Given the description of an element on the screen output the (x, y) to click on. 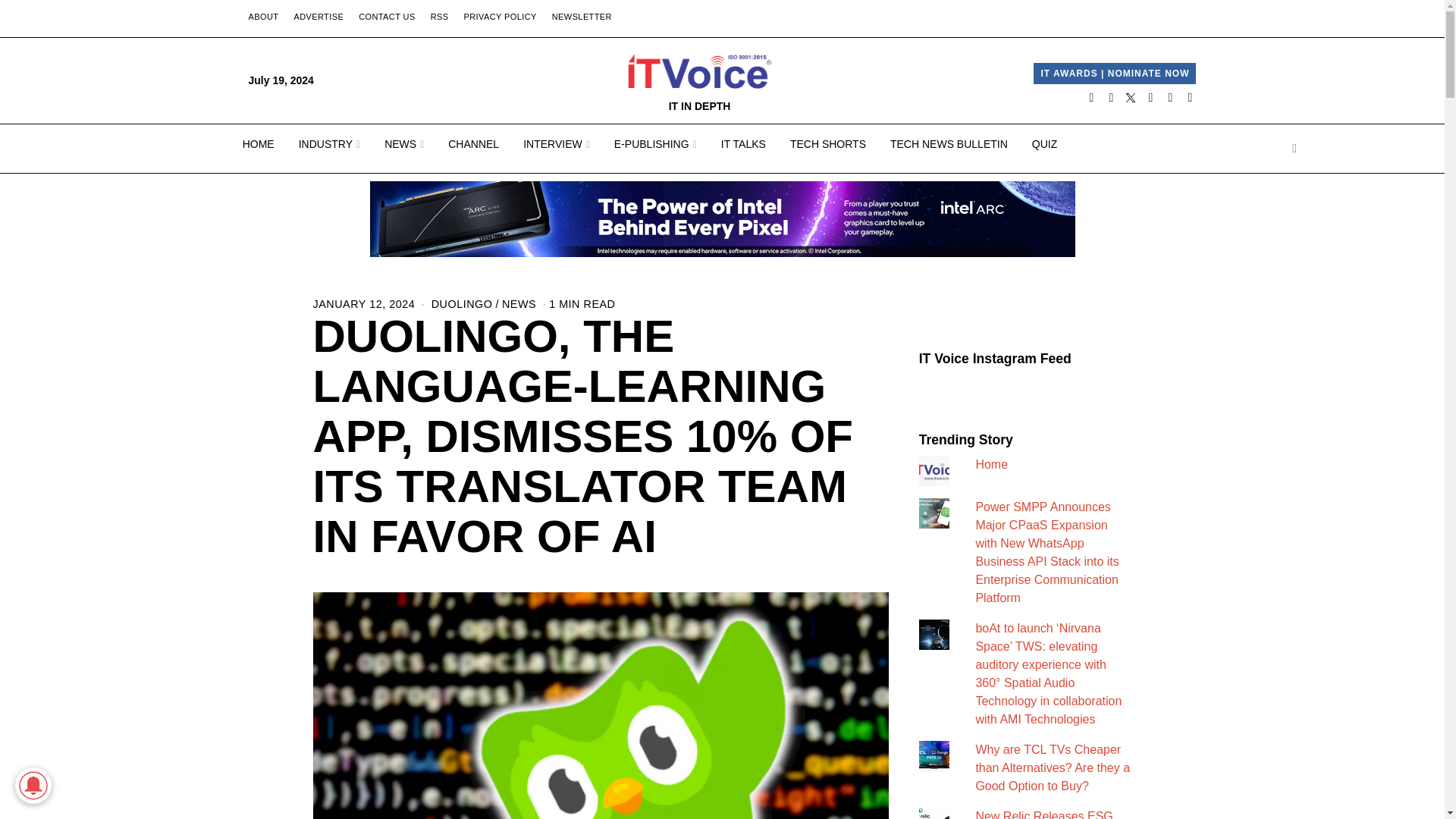
CONTACT US (386, 16)
ADVERTISE (317, 16)
NEWS (403, 143)
Go (1294, 148)
RSS (440, 16)
PRIVACY POLICY (499, 16)
IT IN DEPTH (700, 80)
HOME (258, 143)
NEWSLETTER (582, 16)
CHANNEL (473, 143)
TECH SHORTS (827, 143)
QUIZ (1044, 143)
ABOUT (263, 16)
Home (991, 463)
INDUSTRY (329, 143)
